Given the description of an element on the screen output the (x, y) to click on. 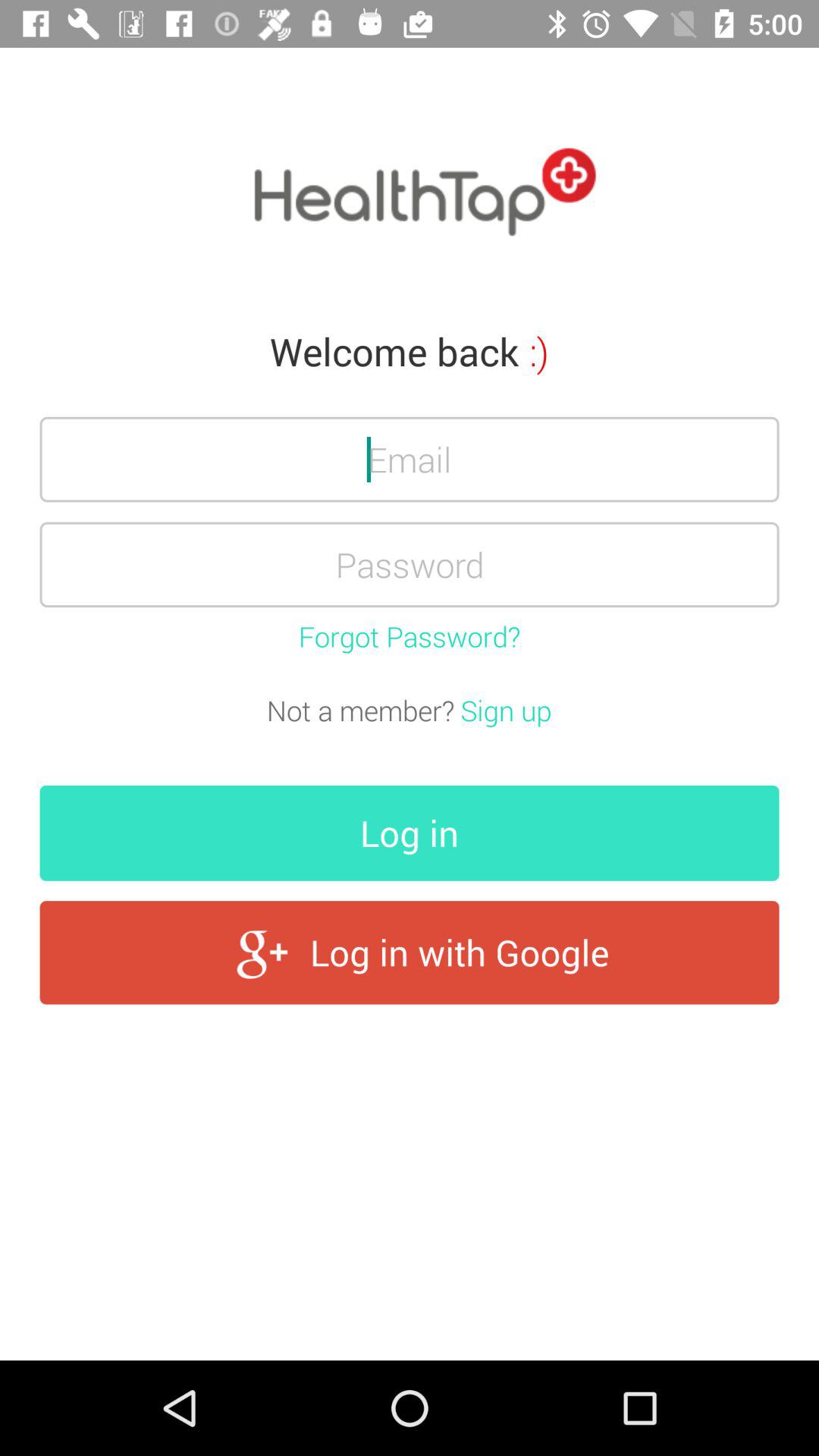
enter password (409, 564)
